Given the description of an element on the screen output the (x, y) to click on. 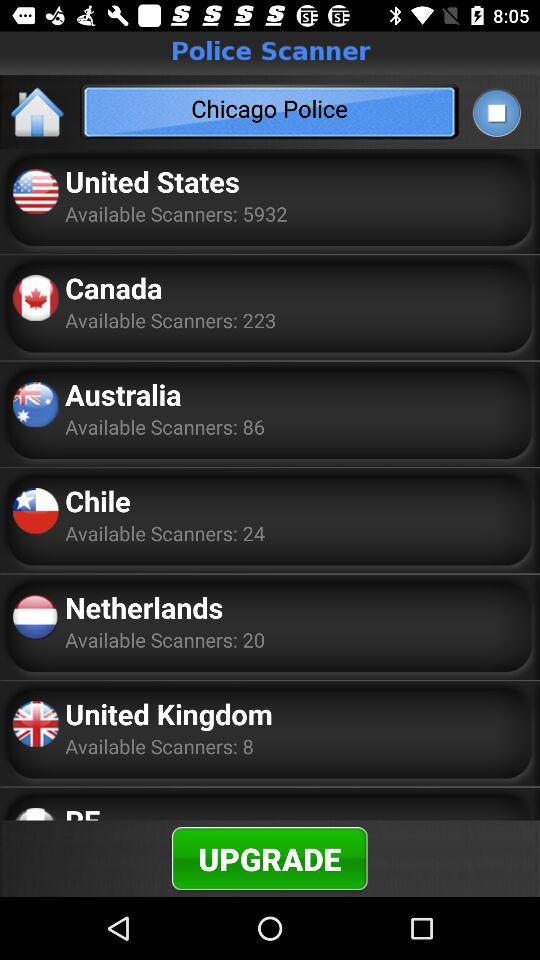
jump to the australia (123, 394)
